Given the description of an element on the screen output the (x, y) to click on. 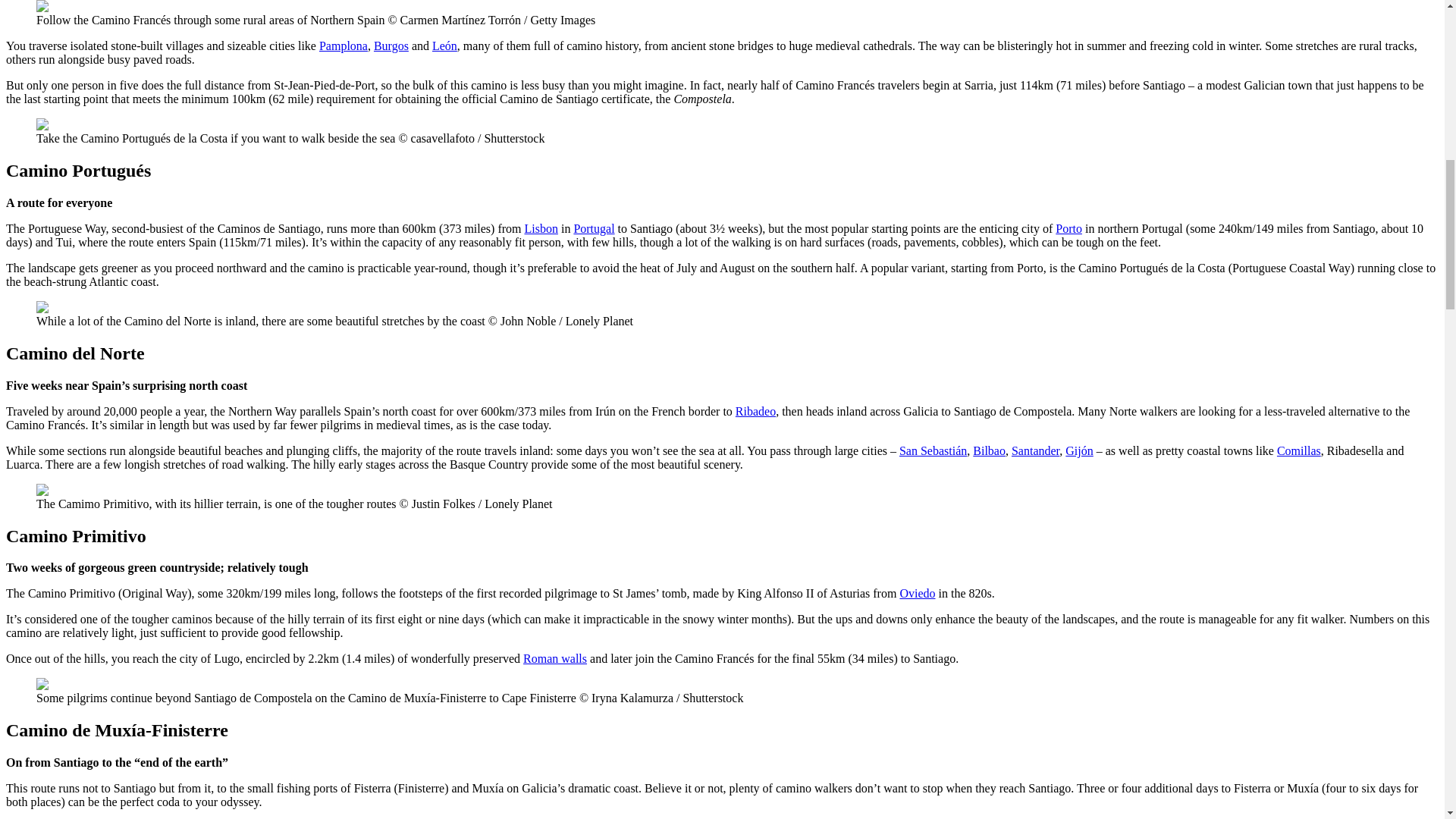
Portugal (593, 228)
Pamplona (343, 45)
Porto (1068, 228)
Burgos (391, 45)
Lisbon (540, 228)
Ribadeo (755, 410)
